Given the description of an element on the screen output the (x, y) to click on. 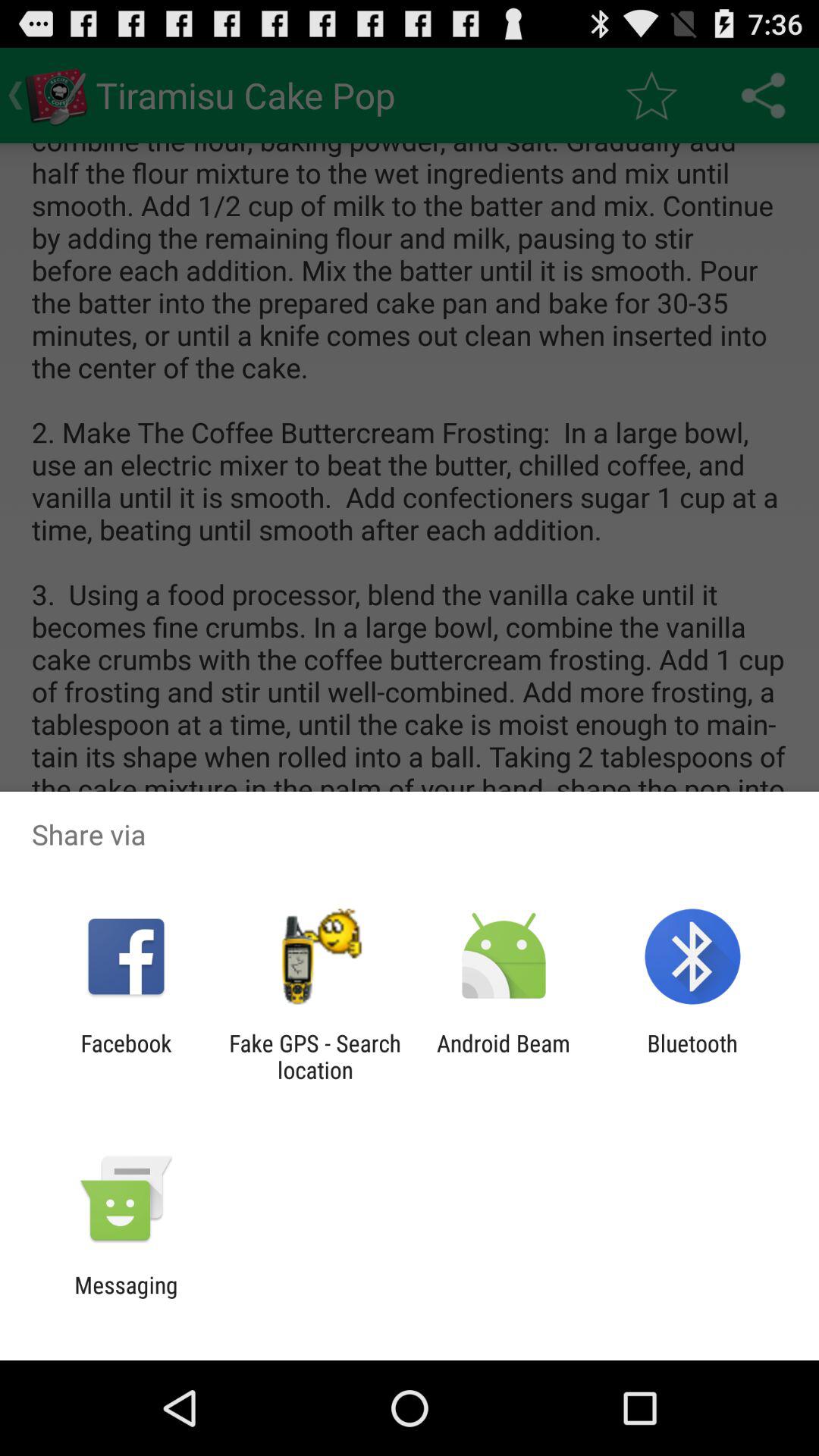
choose facebook icon (125, 1056)
